Given the description of an element on the screen output the (x, y) to click on. 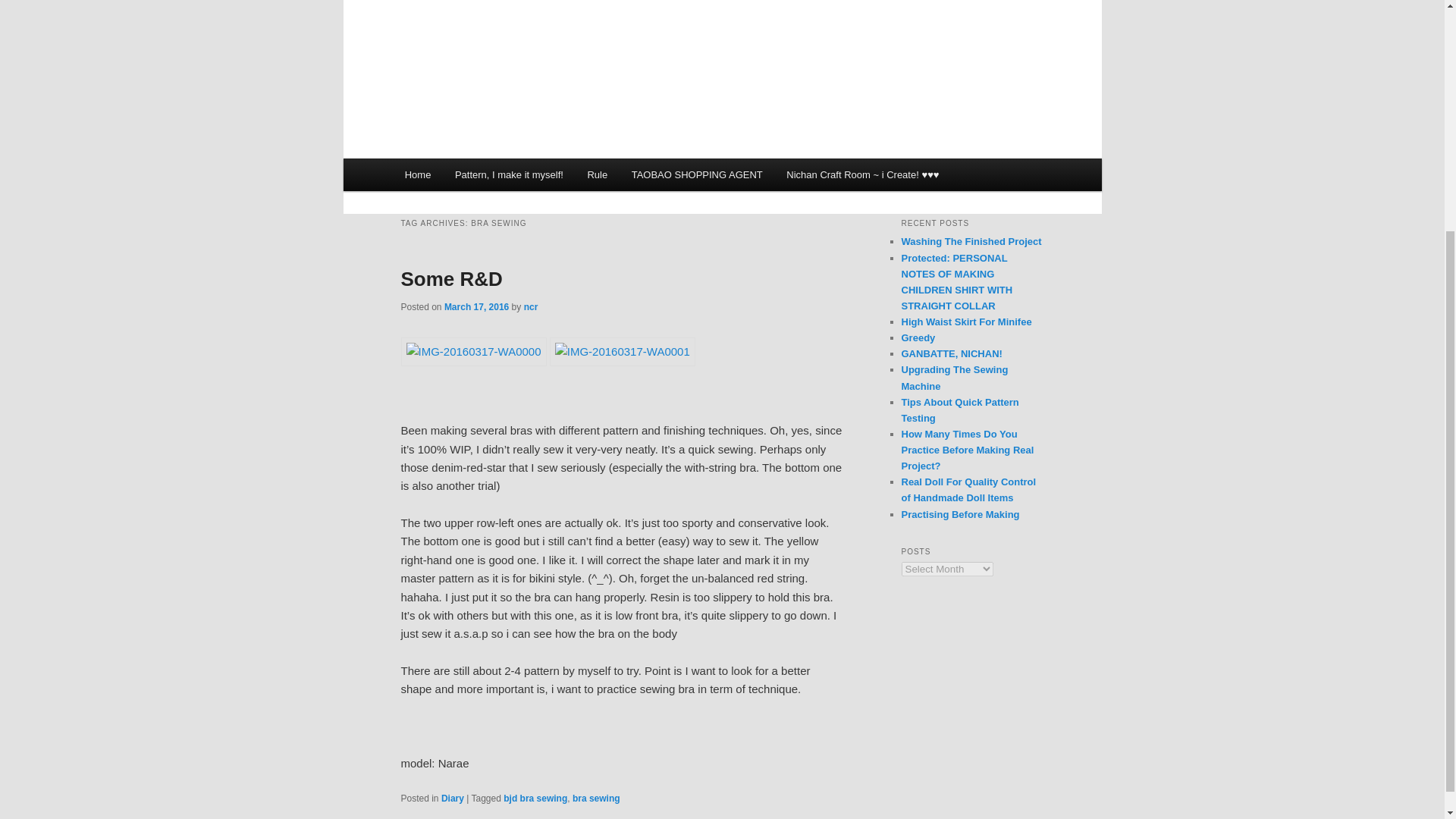
Pattern, I make it myself! (508, 174)
Rule (597, 174)
Real Doll For Quality Control of Handmade Doll Items (968, 489)
GANBATTE, NICHAN! (951, 353)
8:52 am (476, 307)
Home (417, 174)
bra sewing (596, 798)
TAOBAO SHOPPING AGENT (697, 174)
Upgrading The Sewing Machine (954, 377)
